Given the description of an element on the screen output the (x, y) to click on. 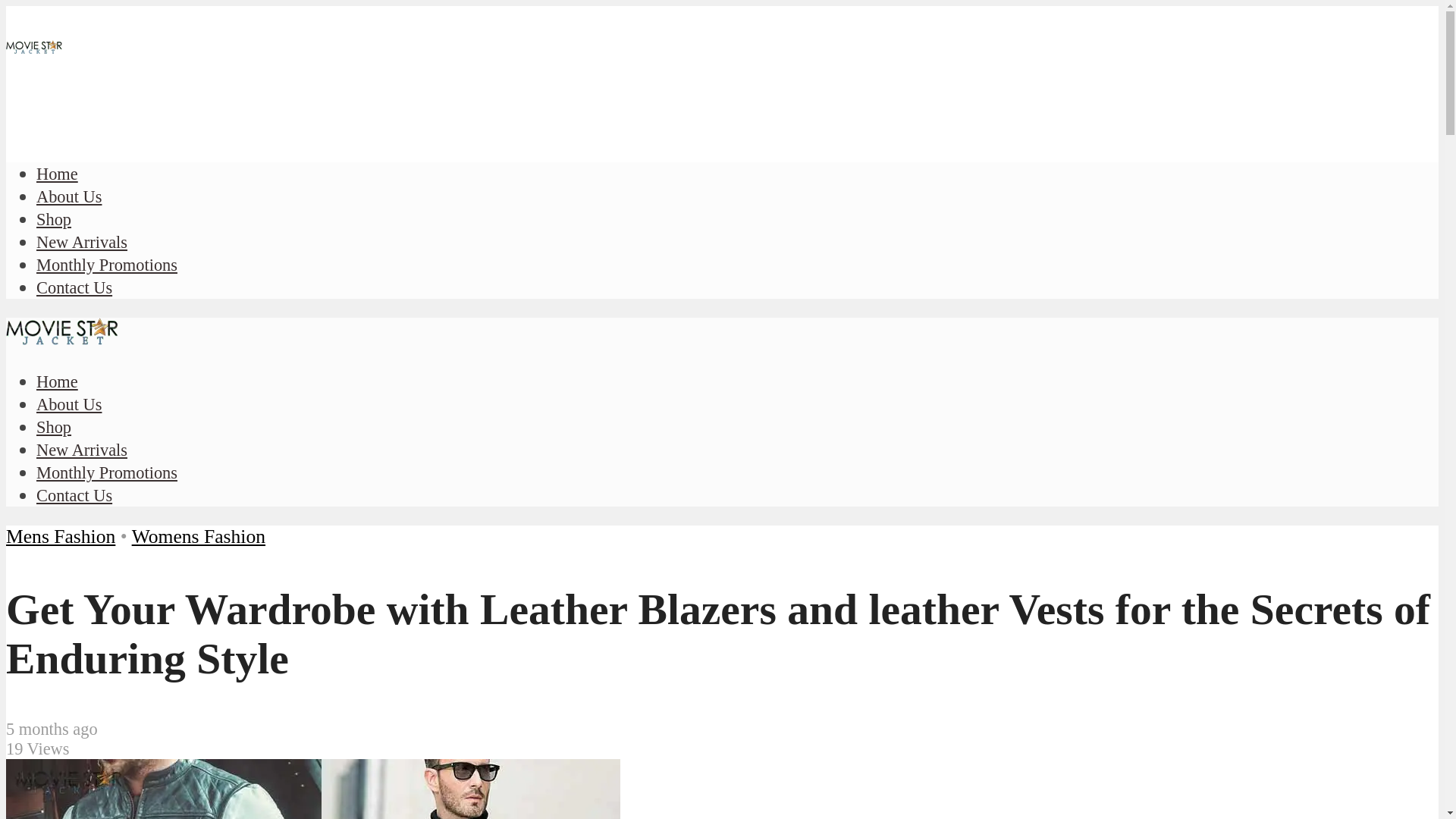
Shop (53, 219)
New Arrivals (82, 449)
Contact Us (74, 495)
Womens Fashion (198, 536)
Contact Us (74, 287)
Monthly Promotions (106, 264)
Home (57, 381)
Shop (53, 426)
About Us (68, 404)
Mens Fashion (60, 536)
Monthly Promotions (106, 472)
New Arrivals (82, 241)
About Us (68, 196)
Home (57, 173)
